Given the description of an element on the screen output the (x, y) to click on. 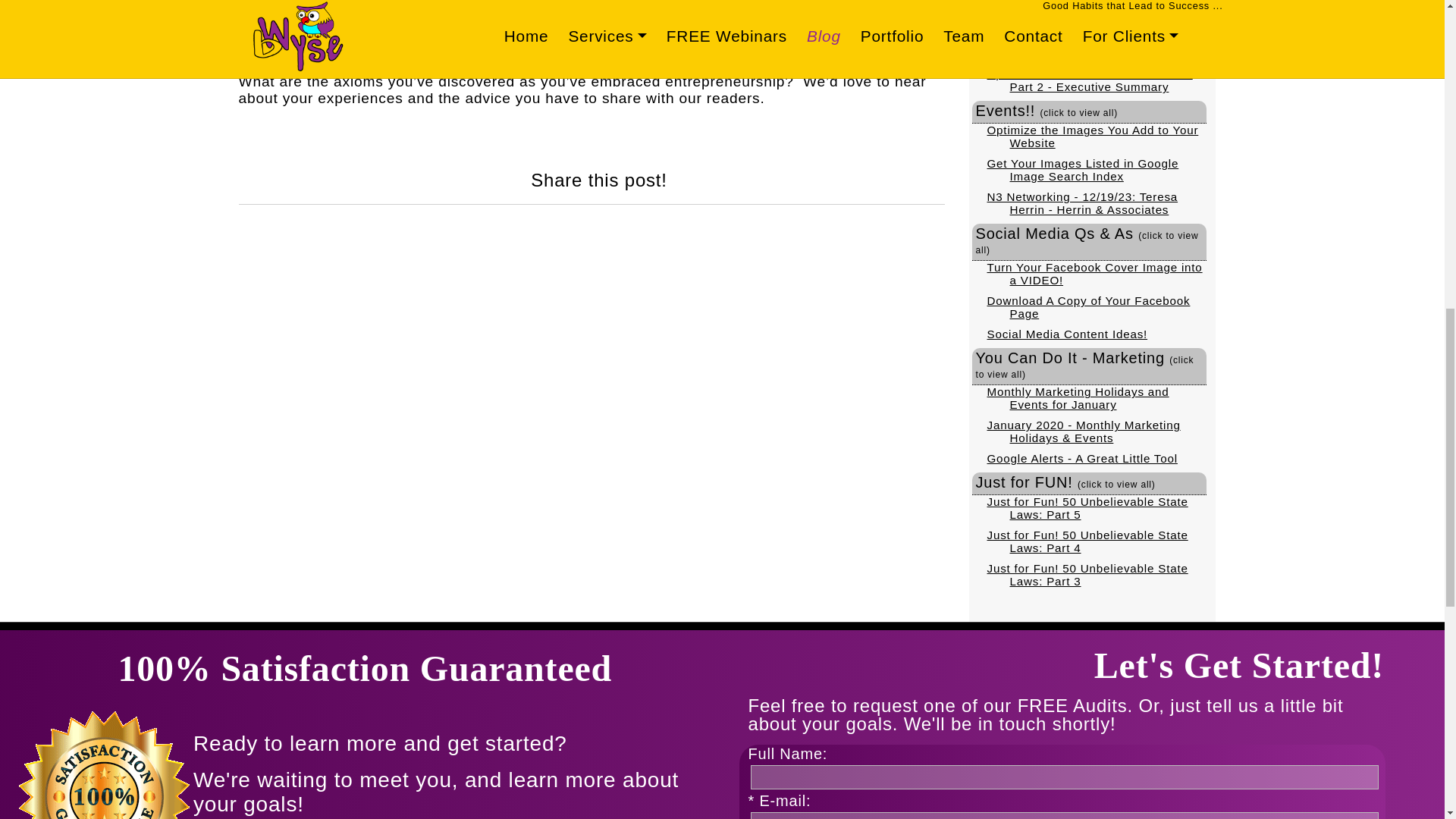
Turn Your Facebook Cover Image into a VIDEO! (1094, 273)
Just for Fun! 50 Unbelievable State Laws: Part 5 (1087, 507)
Get Your Images Listed in Google Image Search Index (1083, 169)
Monthly Marketing Holidays and Events for January (1078, 397)
Social Media Content Ideas! (1067, 333)
Google Alerts - A Great Little Tool (1082, 458)
Optimize the Images You Add to Your Website (1092, 136)
Download A Copy of Your Facebook Page (1089, 307)
